Given the description of an element on the screen output the (x, y) to click on. 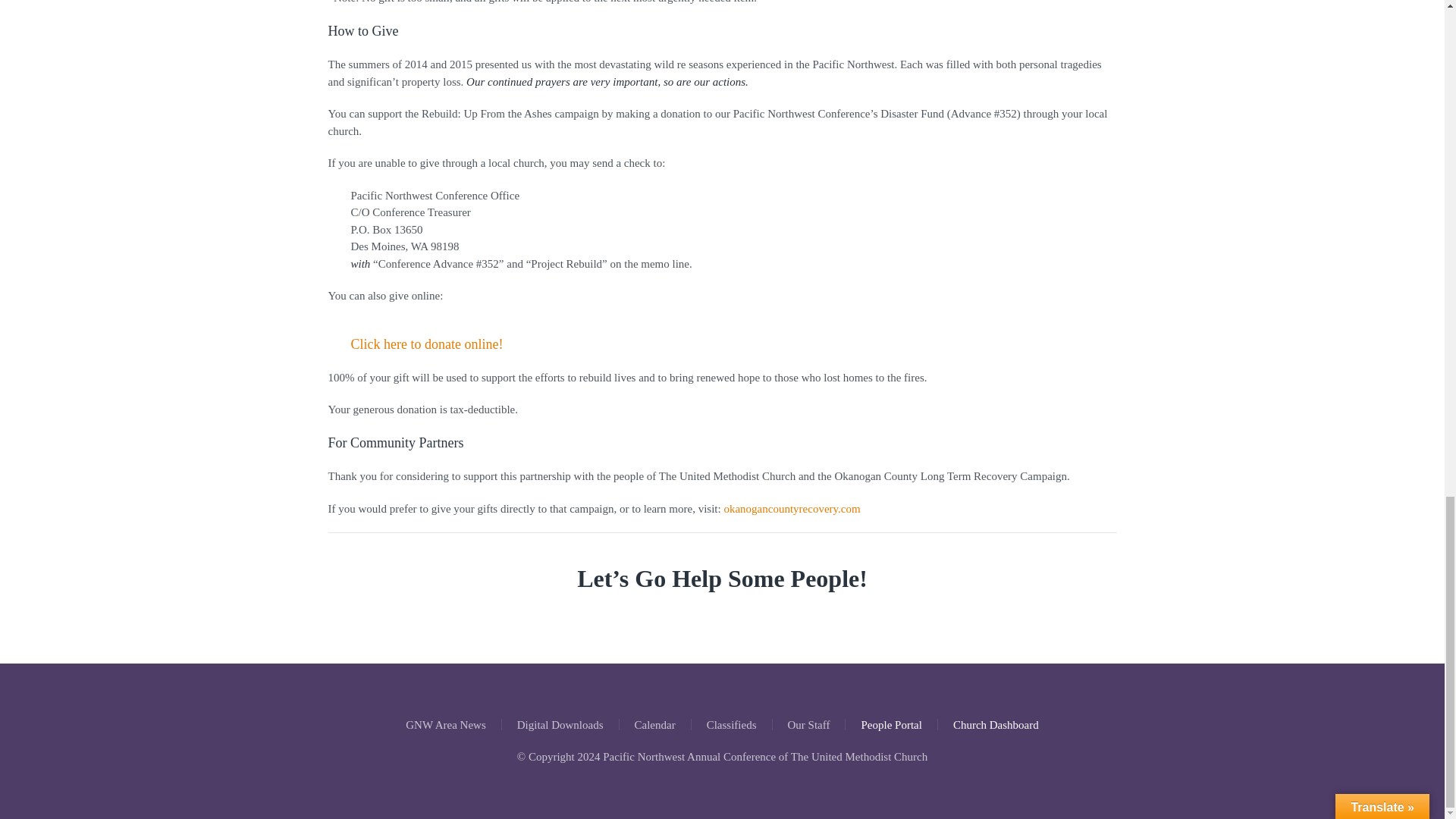
Page 1 (721, 514)
Page 1 (721, 73)
